Given the description of an element on the screen output the (x, y) to click on. 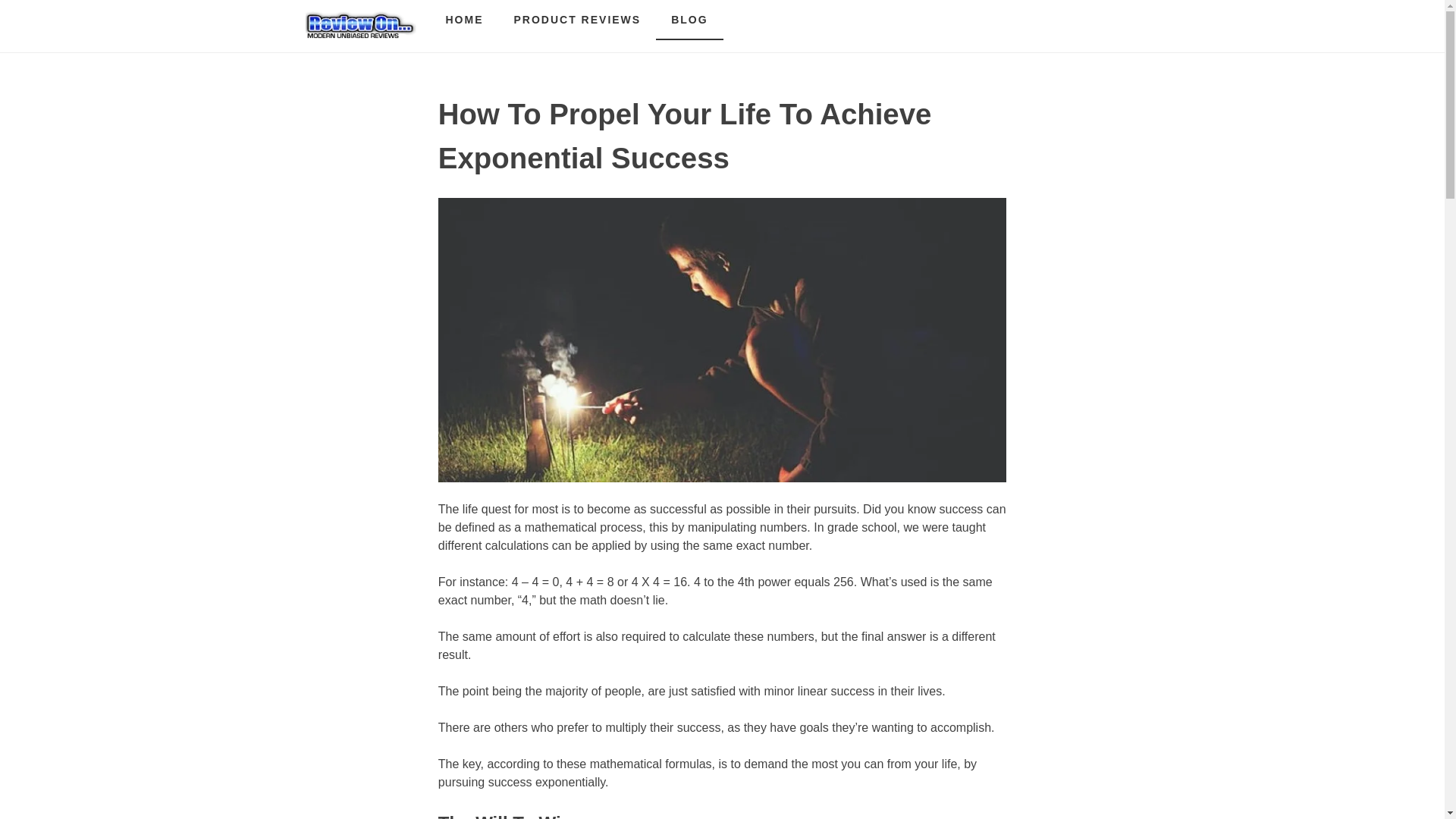
BLOG (689, 20)
PRODUCT REVIEWS (577, 20)
HOME (464, 20)
